Given the description of an element on the screen output the (x, y) to click on. 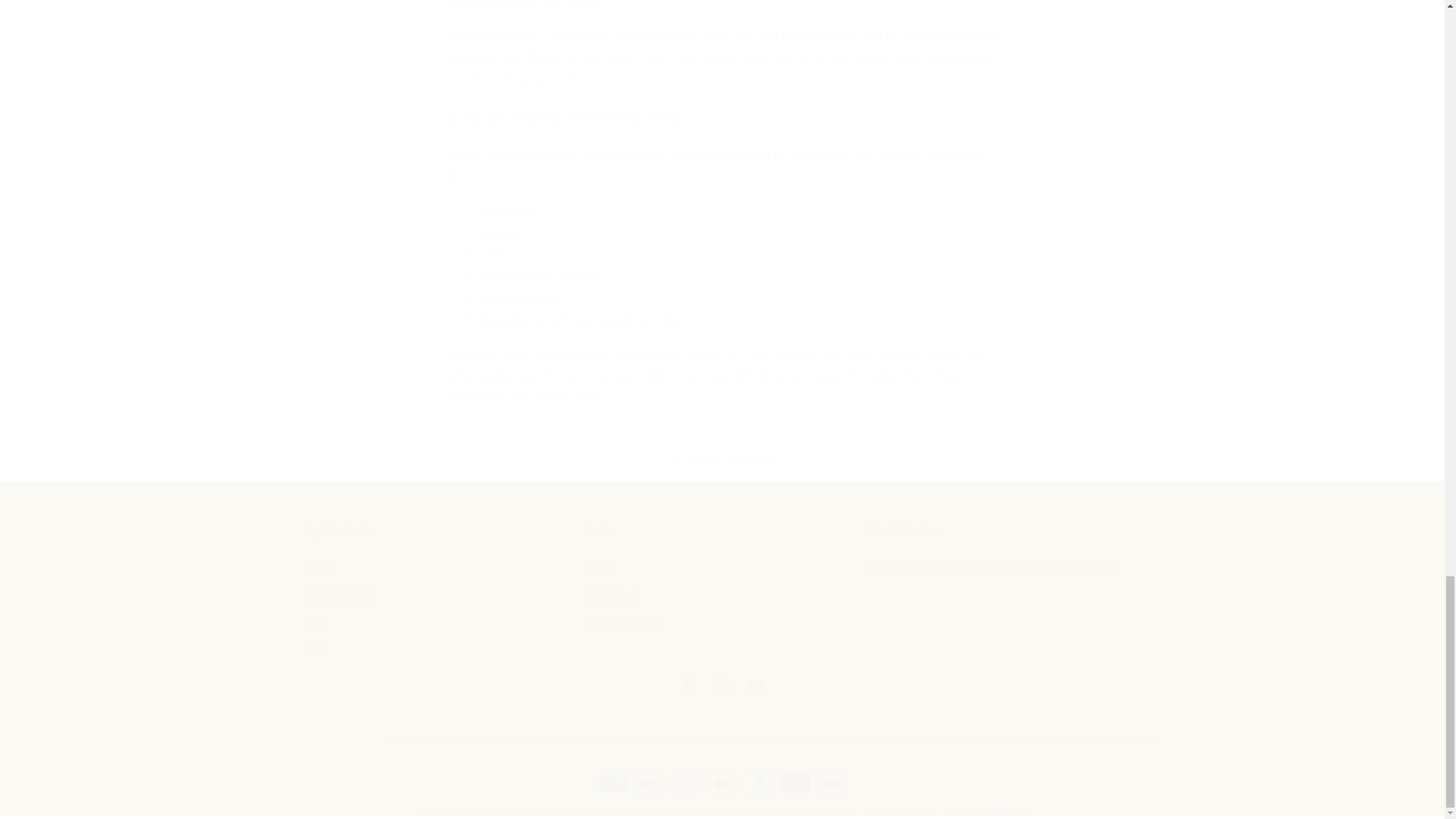
About (1001, 591)
Consultations (722, 591)
Shop (600, 568)
